Given the description of an element on the screen output the (x, y) to click on. 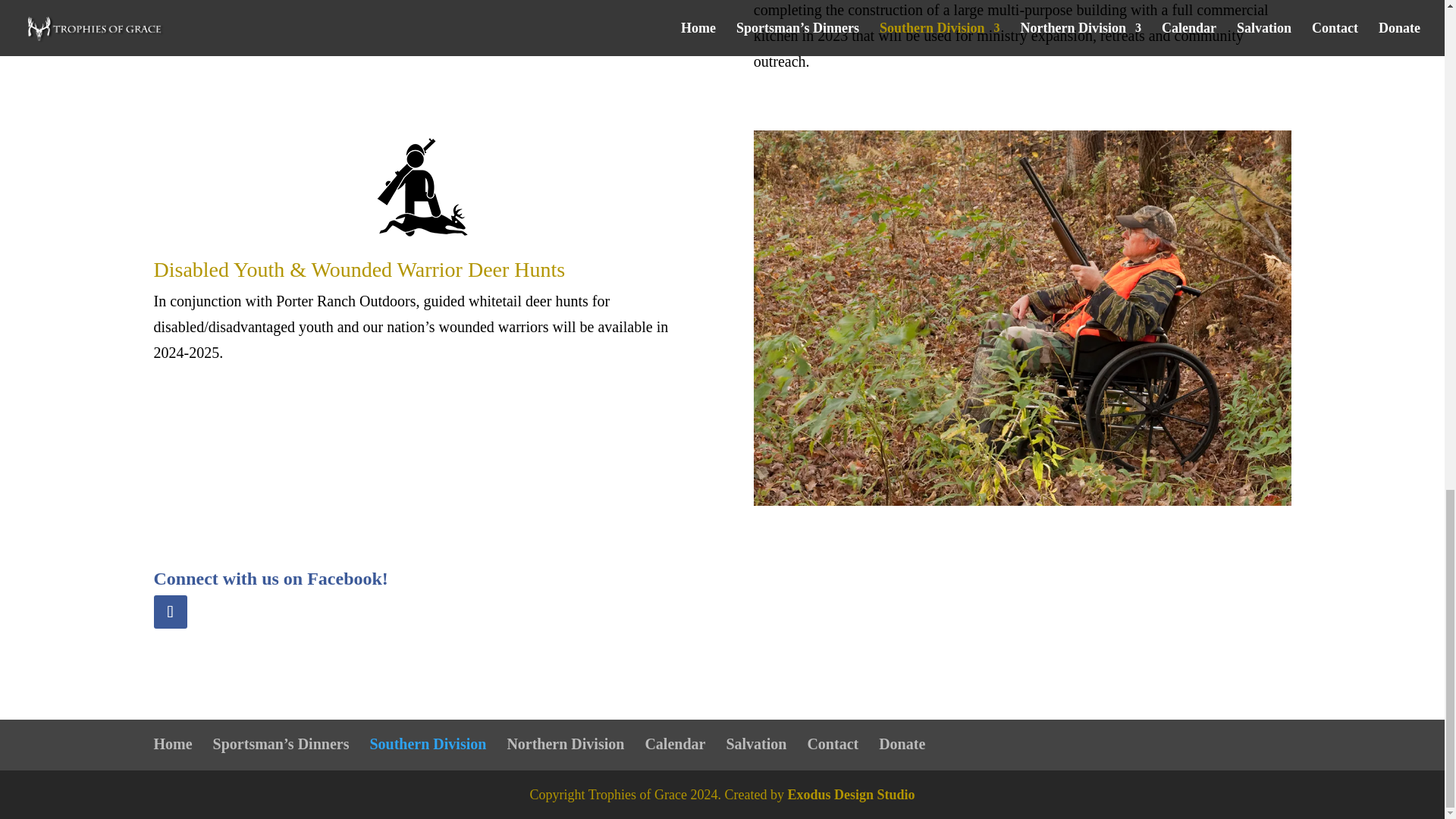
Home (172, 743)
Southern Division (427, 743)
Calendar (674, 743)
Northern Division (565, 743)
Contact (832, 743)
Salvation (755, 743)
Follow on Facebook (169, 611)
